Given the description of an element on the screen output the (x, y) to click on. 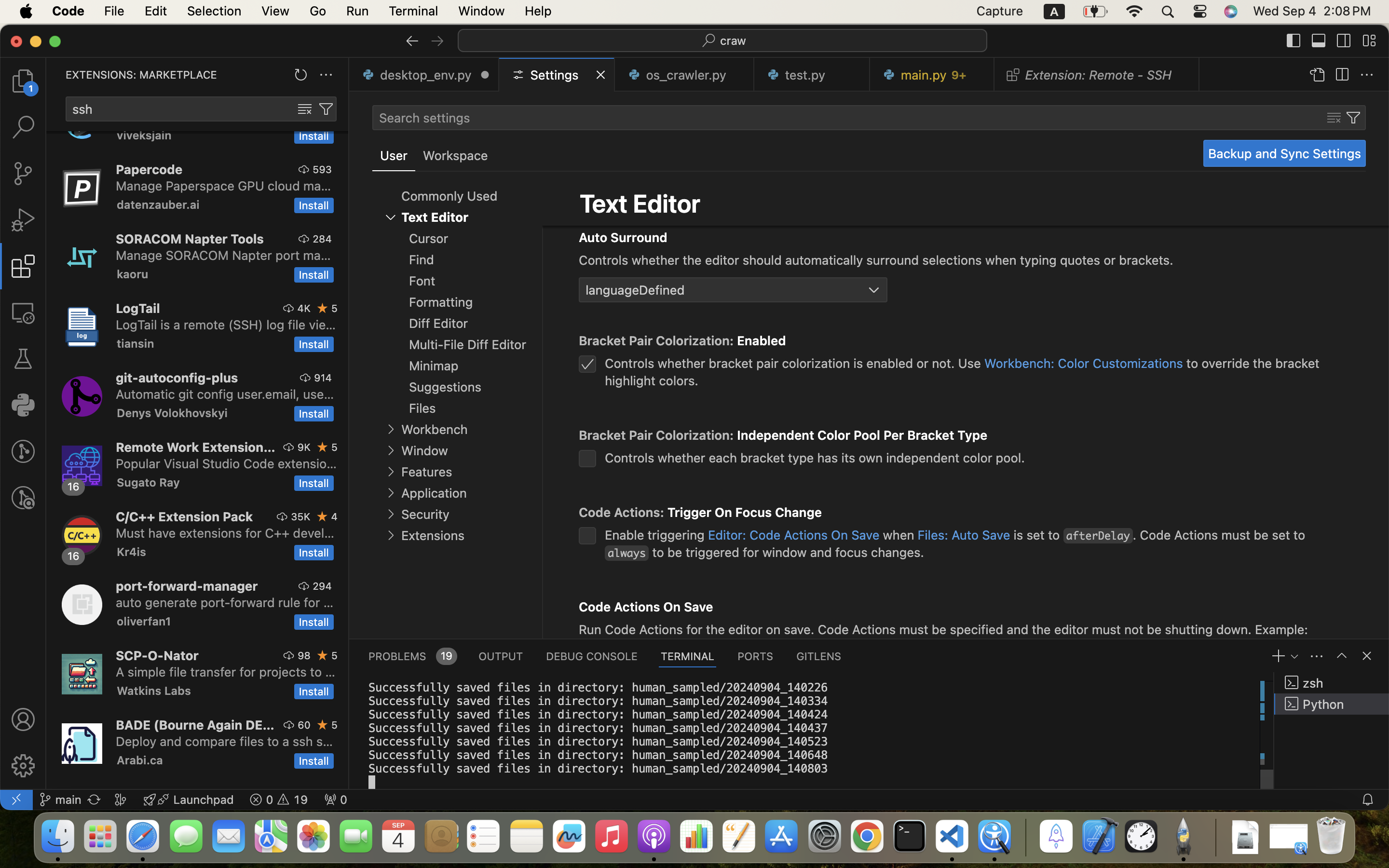
Minimap Element type: AXStaticText (433, 365)
Must have extensions for C++ development in Visual Studio Code. Element type: AXStaticText (224, 532)
Denys Volokhovskyi Element type: AXStaticText (171, 412)
. Code Actions must be set to Element type: AXStaticText (1219, 534)
 Element type: AXButton (412, 40)
